Given the description of an element on the screen output the (x, y) to click on. 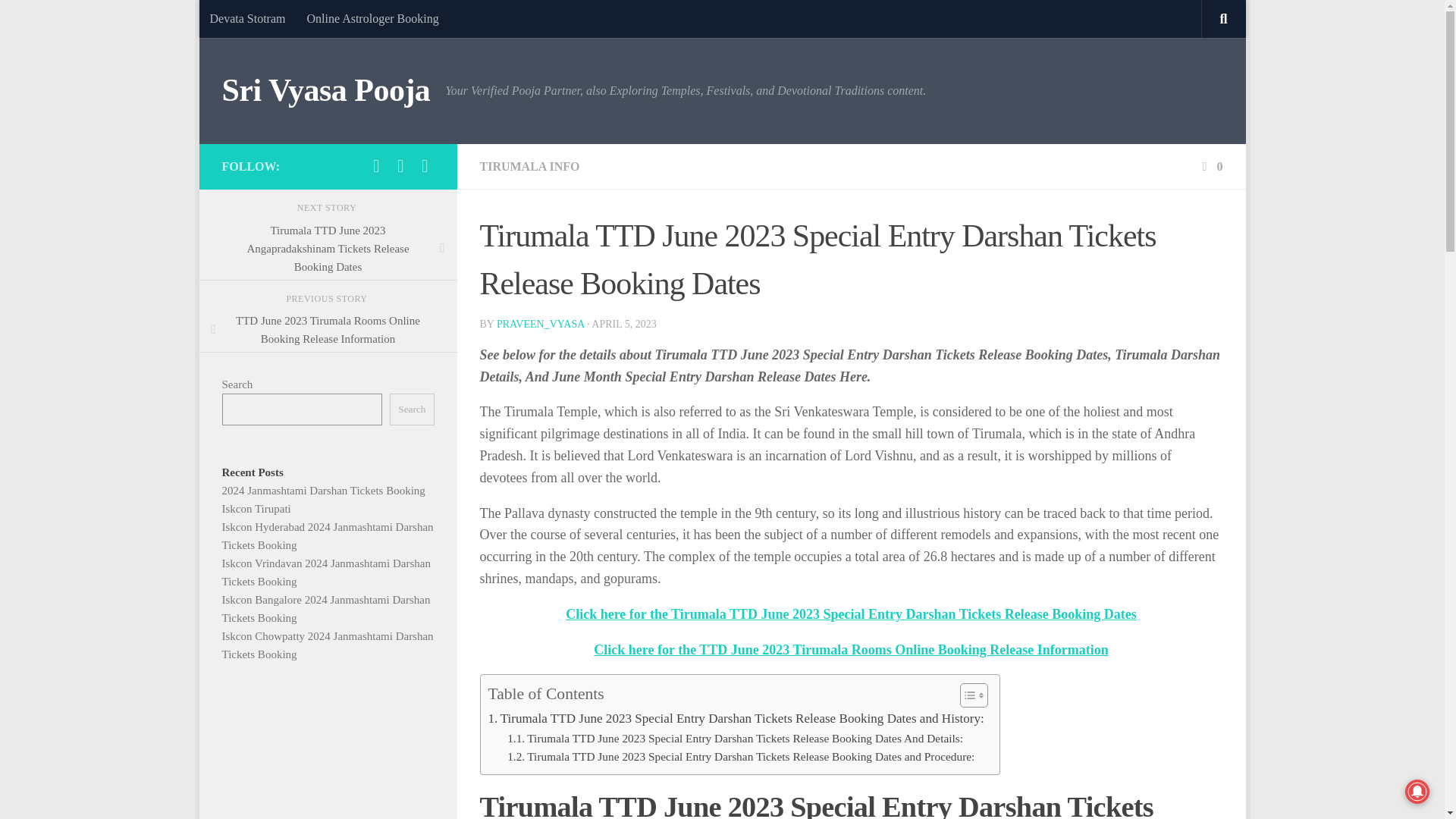
Sri Vyasa Pooja (325, 90)
Online Astrologer Booking (371, 18)
Skip to content (258, 20)
Devata Stotram (246, 18)
TIRUMALA INFO (529, 165)
0 (1210, 165)
